Given the description of an element on the screen output the (x, y) to click on. 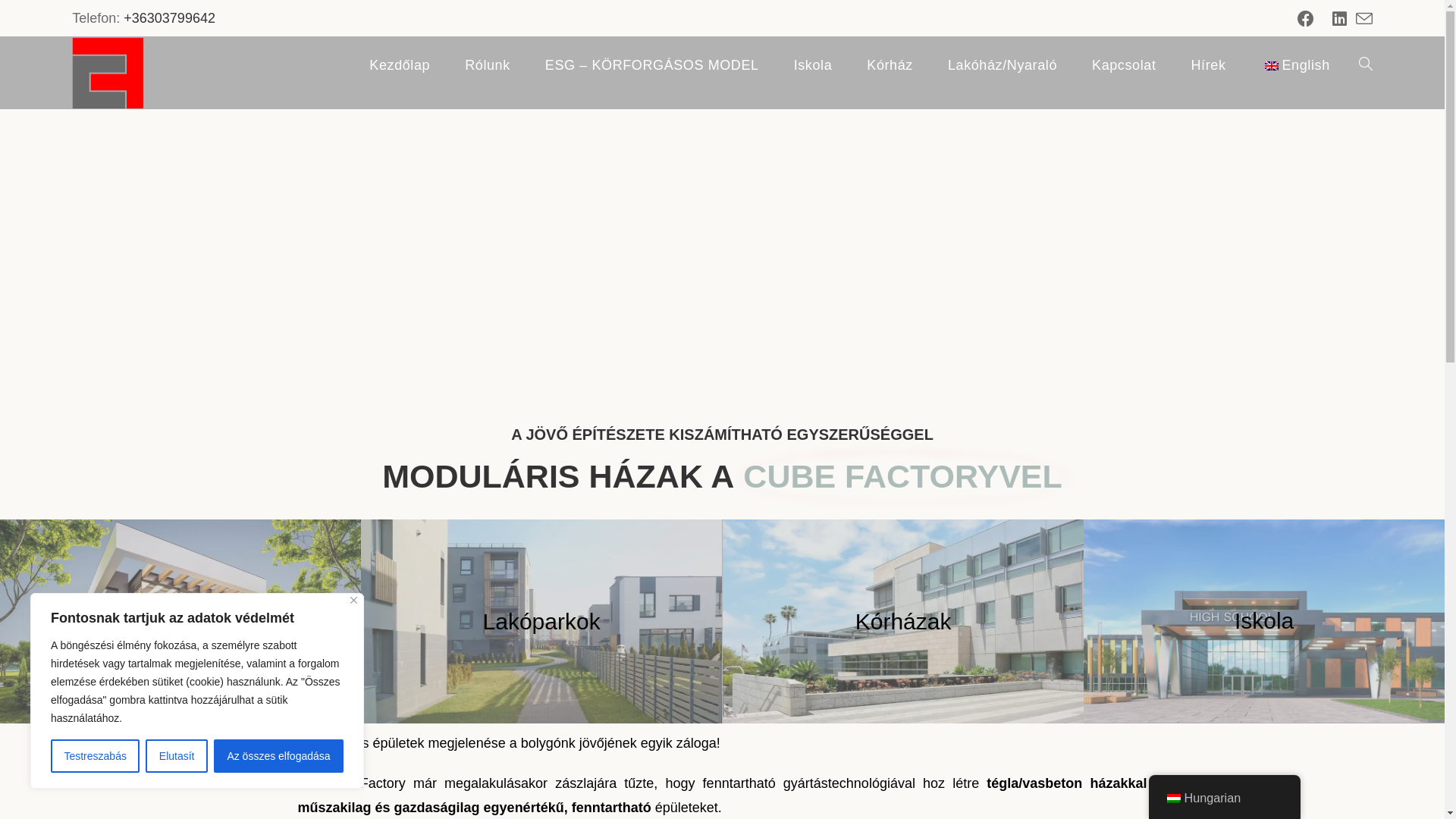
Iskola Element type: text (1263, 620)
Hungarian Element type: text (1223, 797)
+36303799642 Element type: text (169, 17)
Iskola Element type: text (813, 65)
English Element type: text (1295, 65)
Hungarian Element type: hover (1172, 798)
Kapcsolat Element type: text (1123, 65)
English Element type: hover (1271, 65)
